Given the description of an element on the screen output the (x, y) to click on. 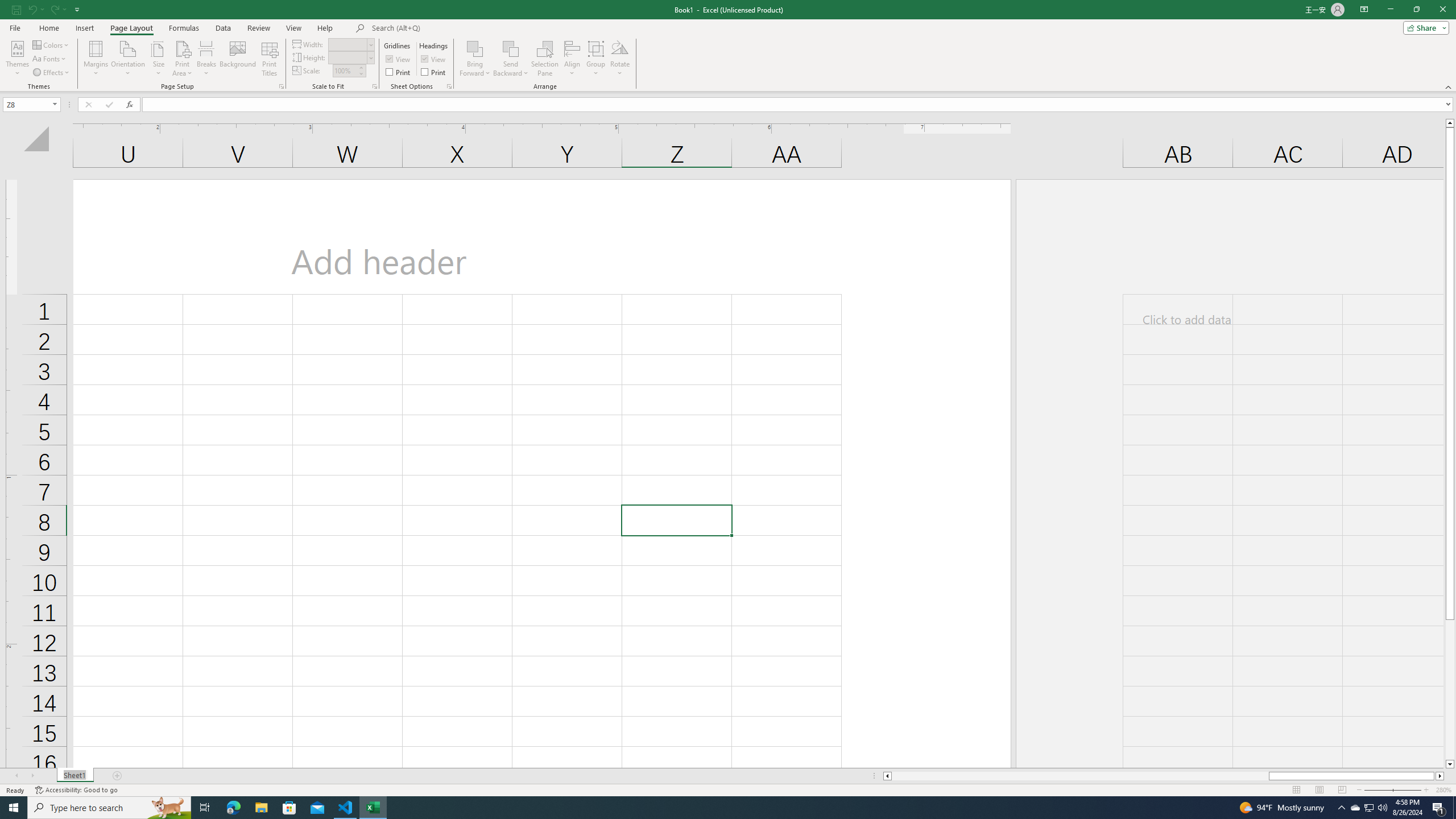
Rotate (619, 58)
Themes (17, 58)
Effects (51, 72)
More (360, 67)
Group (595, 58)
